Given the description of an element on the screen output the (x, y) to click on. 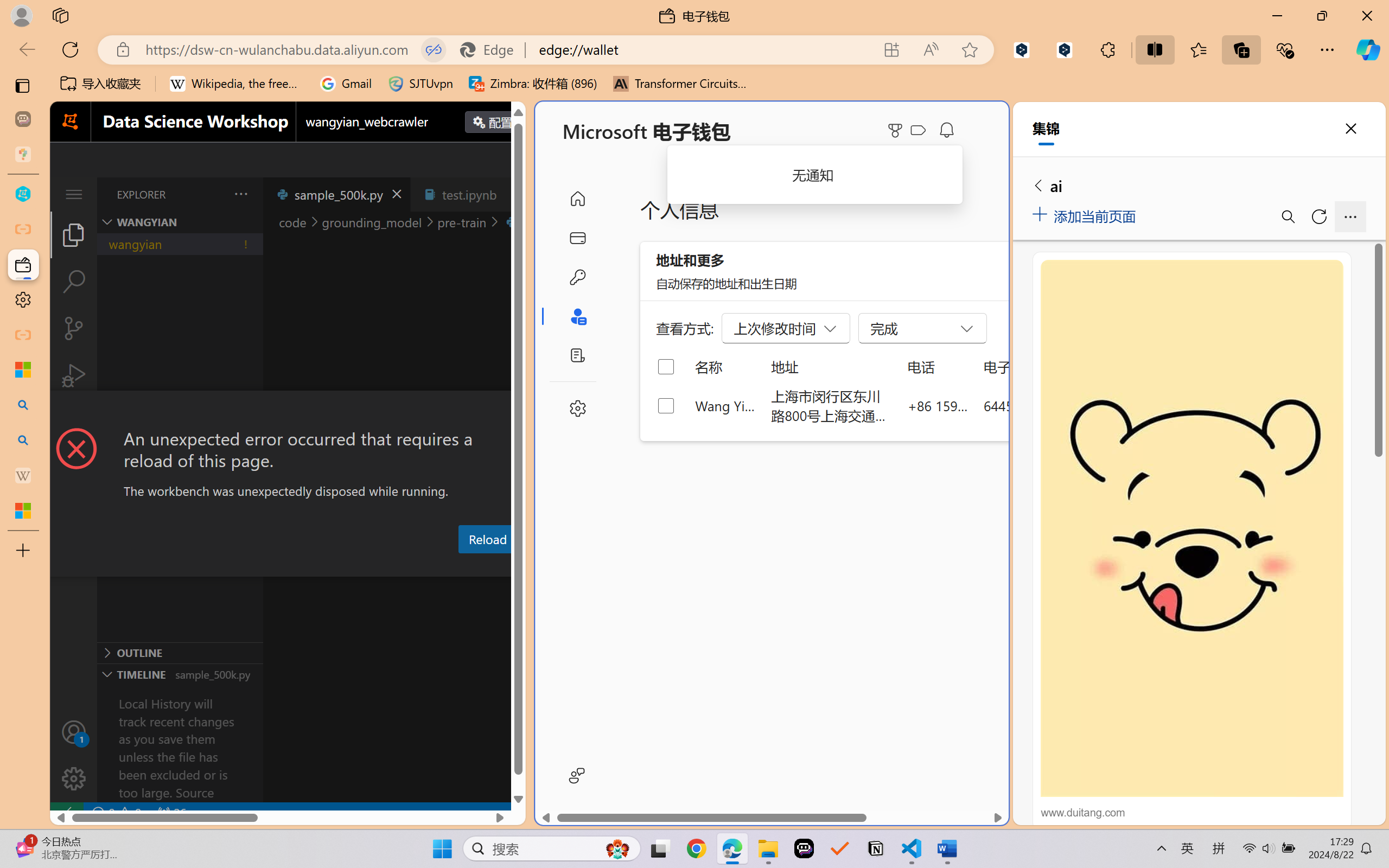
Microsoft Rewards (896, 129)
Wang Yian (725, 405)
Output (Ctrl+Shift+U) (377, 565)
Timeline Section (179, 673)
